Given the description of an element on the screen output the (x, y) to click on. 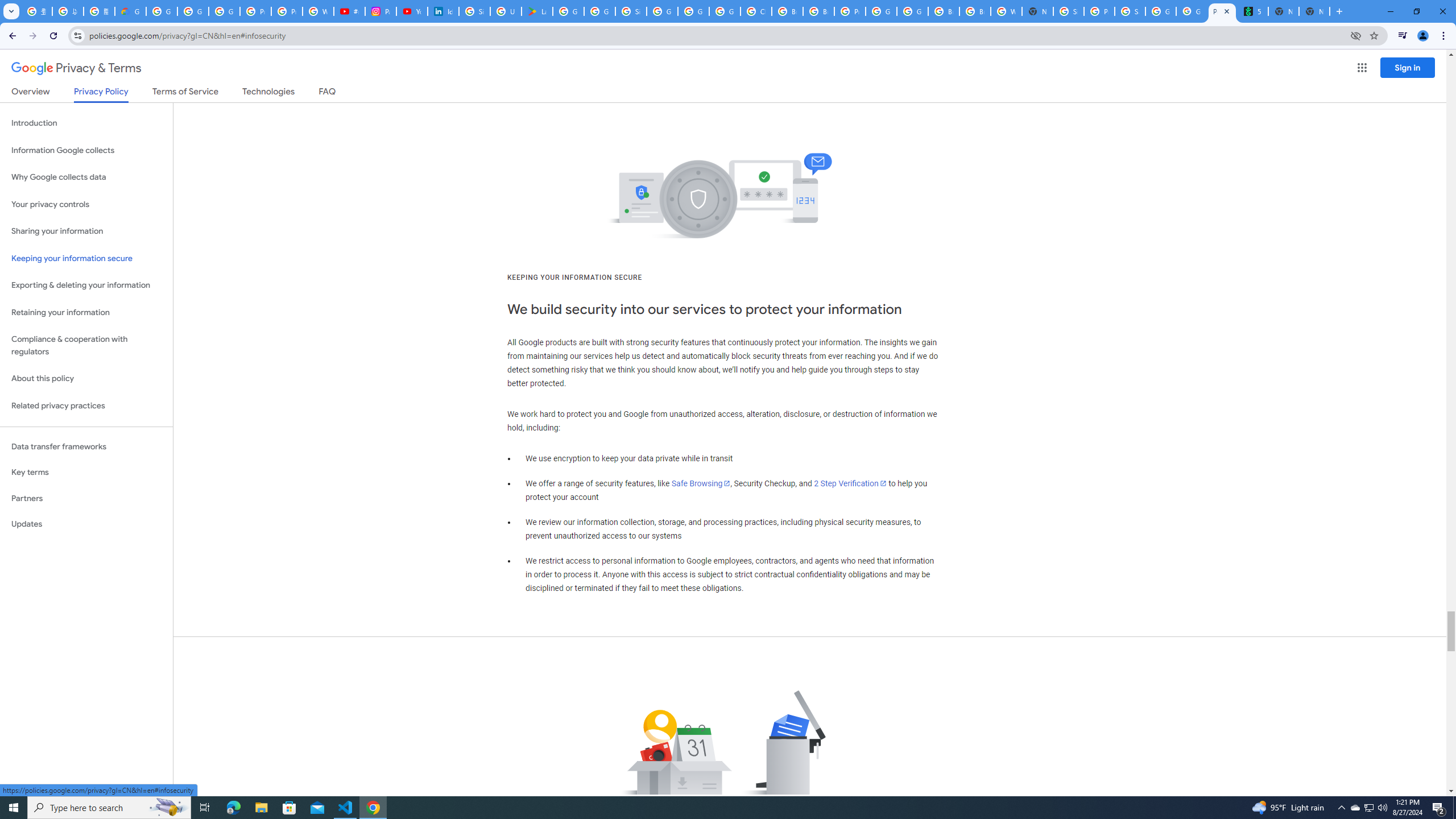
Google Cloud Platform (912, 11)
Last Shelter: Survival - Apps on Google Play (536, 11)
Information Google collects (86, 150)
Compliance & cooperation with regulators (86, 345)
Google Cloud Platform (881, 11)
Browse Chrome as a guest - Computer - Google Chrome Help (787, 11)
Sign in - Google Accounts (1068, 11)
